Given the description of an element on the screen output the (x, y) to click on. 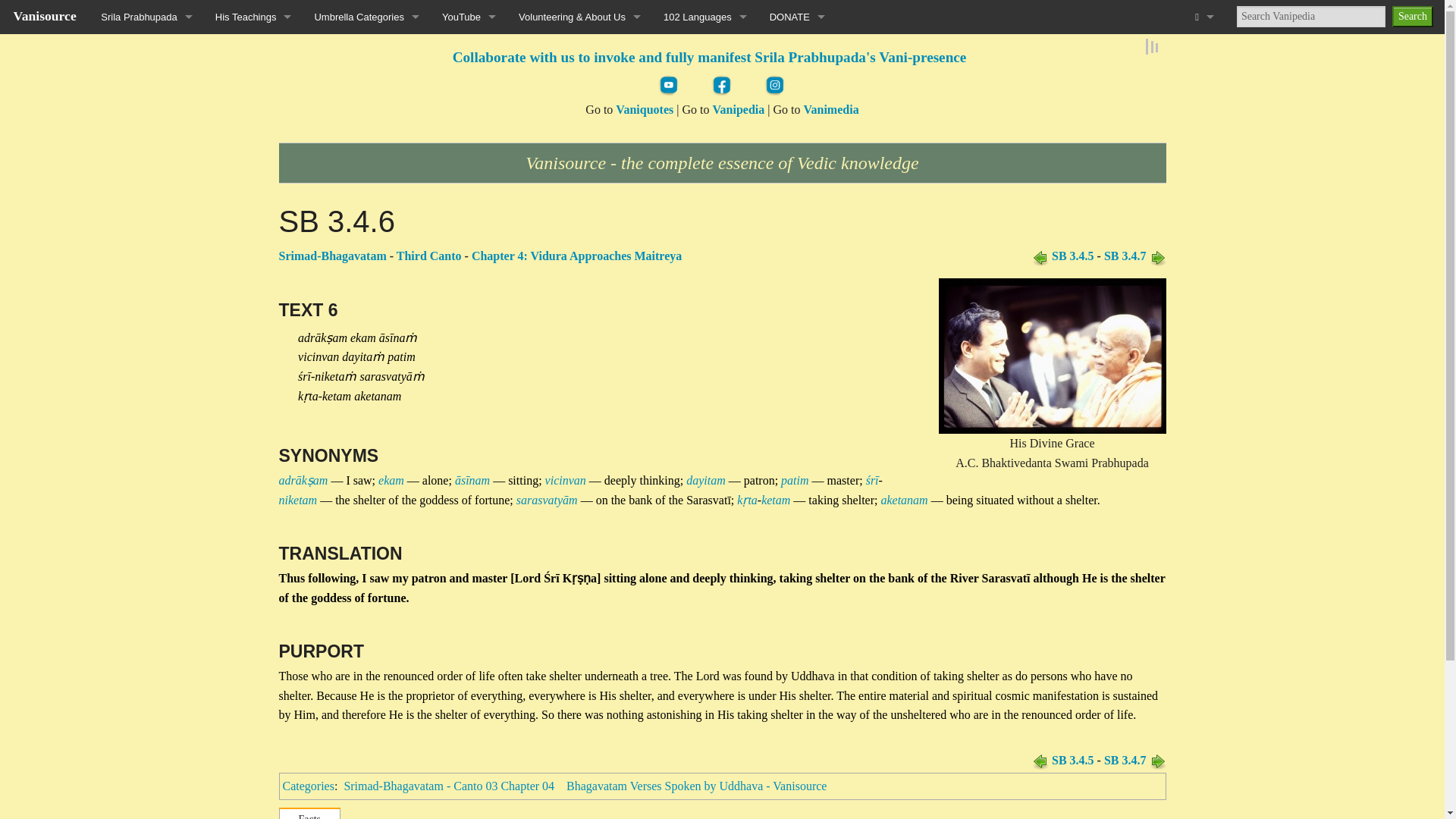
SB 3.4.7 (1125, 255)
SB 3.4.7 (1158, 255)
Vanisource (44, 15)
SB 3.4.7 (1158, 759)
SB 3.4.5 (1072, 759)
vanipedia:Main Page (737, 109)
SB 3.4.5 (1072, 255)
SB 3.4.5 (1040, 759)
vanimedia:Main Page (831, 109)
SB 3.4.7 (1125, 759)
SB 3.4.5 (1040, 255)
Srimad-Bhagavatam (333, 255)
Search (1411, 16)
vaniquotes:Main Page (643, 109)
SB 3 (428, 255)
